Given the description of an element on the screen output the (x, y) to click on. 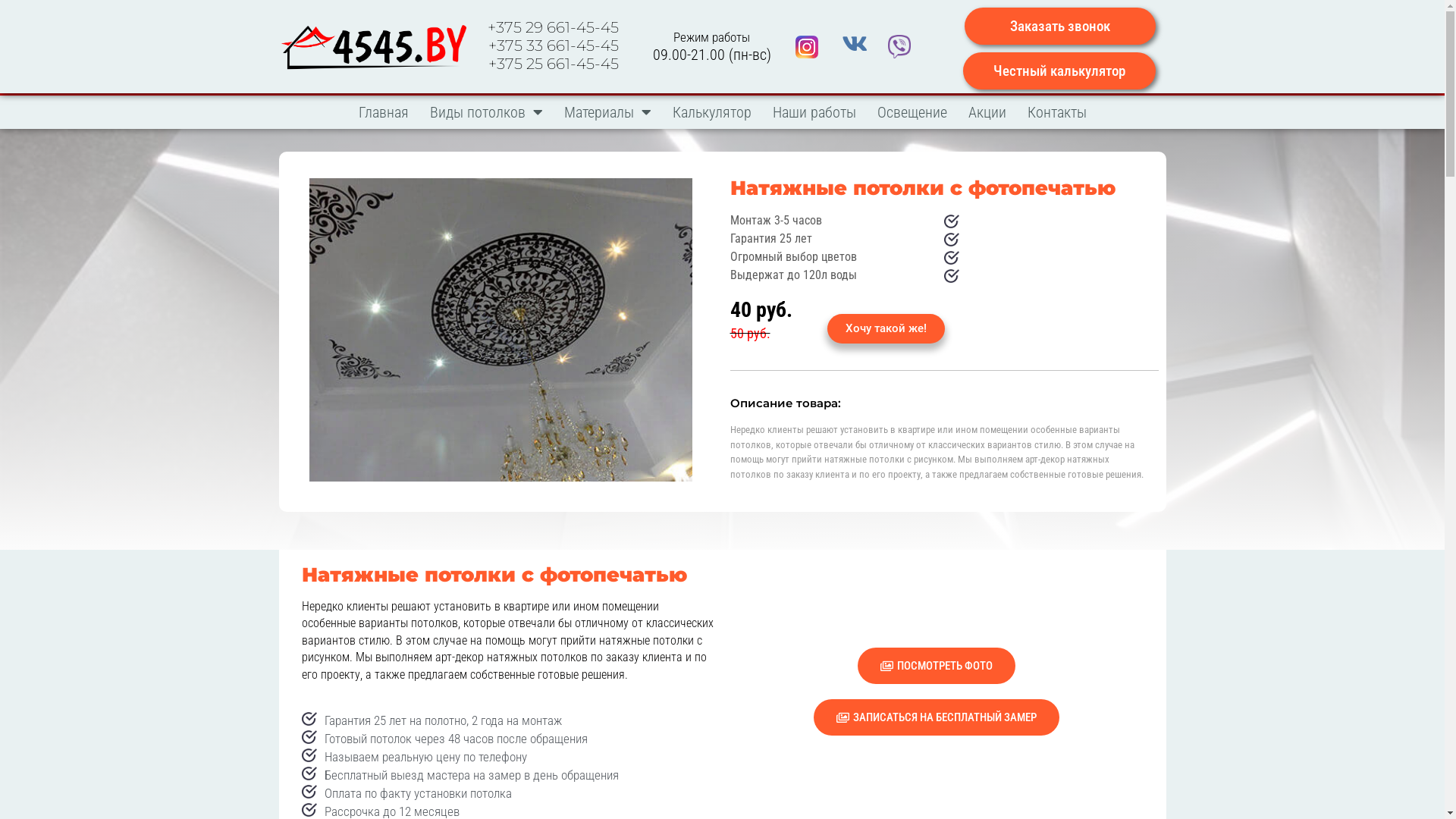
+375 29 661-45-45 Element type: text (552, 27)
+375 33 661-45-45 Element type: text (553, 45)
+375 25 661-45-45 Element type: text (553, 63)
